Given the description of an element on the screen output the (x, y) to click on. 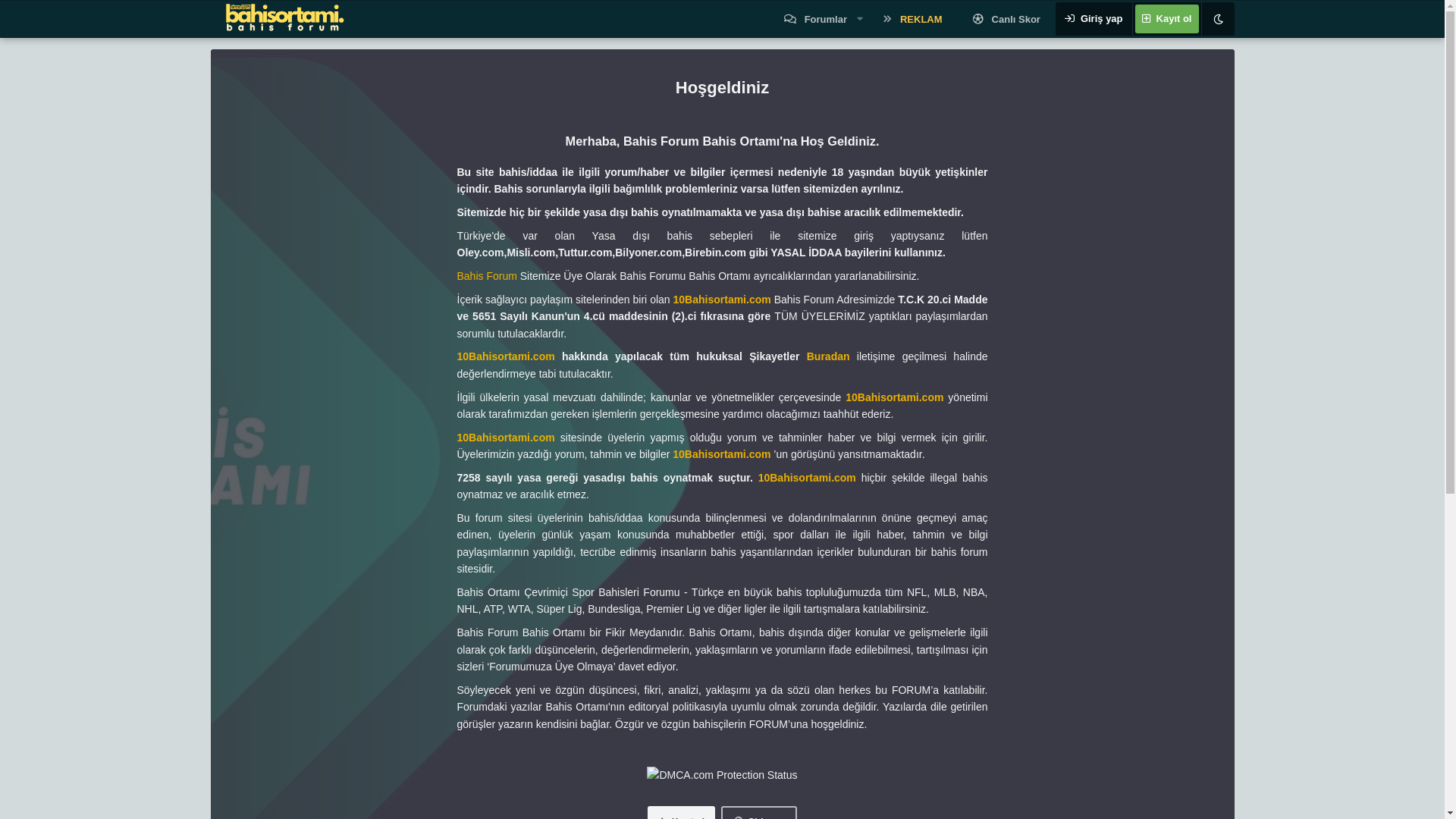
Buradan Element type: text (831, 356)
Bahis Forum Element type: text (486, 275)
REKLAM Element type: text (912, 19)
Forumlar Element type: text (815, 19)
DMCA.com Protection Status Element type: hover (721, 774)
